Given the description of an element on the screen output the (x, y) to click on. 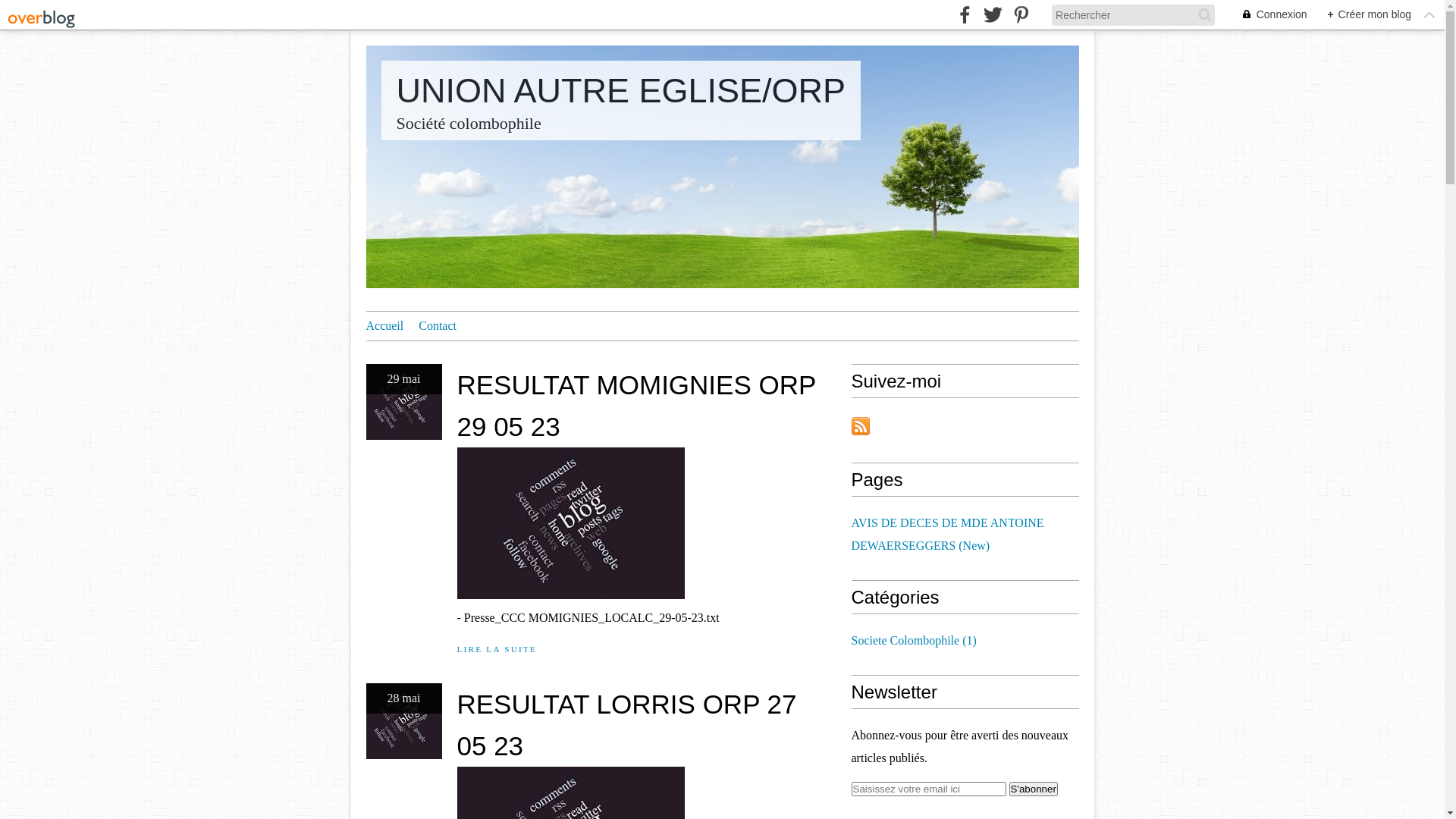
AVIS DE DECES DE MDE ANTOINE DEWAERSEGGERS (New) Element type: text (946, 534)
Connexion Element type: text (1266, 14)
 facebook Element type: hover (964, 14)
29 mai Element type: text (403, 405)
 twitter Element type: hover (992, 14)
28 mai Element type: text (403, 724)
Contact Element type: text (437, 325)
RSS Element type: text (859, 426)
Accueil Element type: text (384, 325)
UNION AUTRE EGLISE/ORP Element type: text (620, 90)
LIRE LA SUITE Element type: text (496, 648)
RESULTAT MOMIGNIES ORP 29 05 23 Element type: text (635, 405)
S'abonner Element type: text (1032, 788)
Societe Colombophile (1) Element type: text (912, 639)
 pinterest Element type: hover (1020, 14)
RESULTAT LORRIS ORP 27 05 23 Element type: text (626, 724)
